Given the description of an element on the screen output the (x, y) to click on. 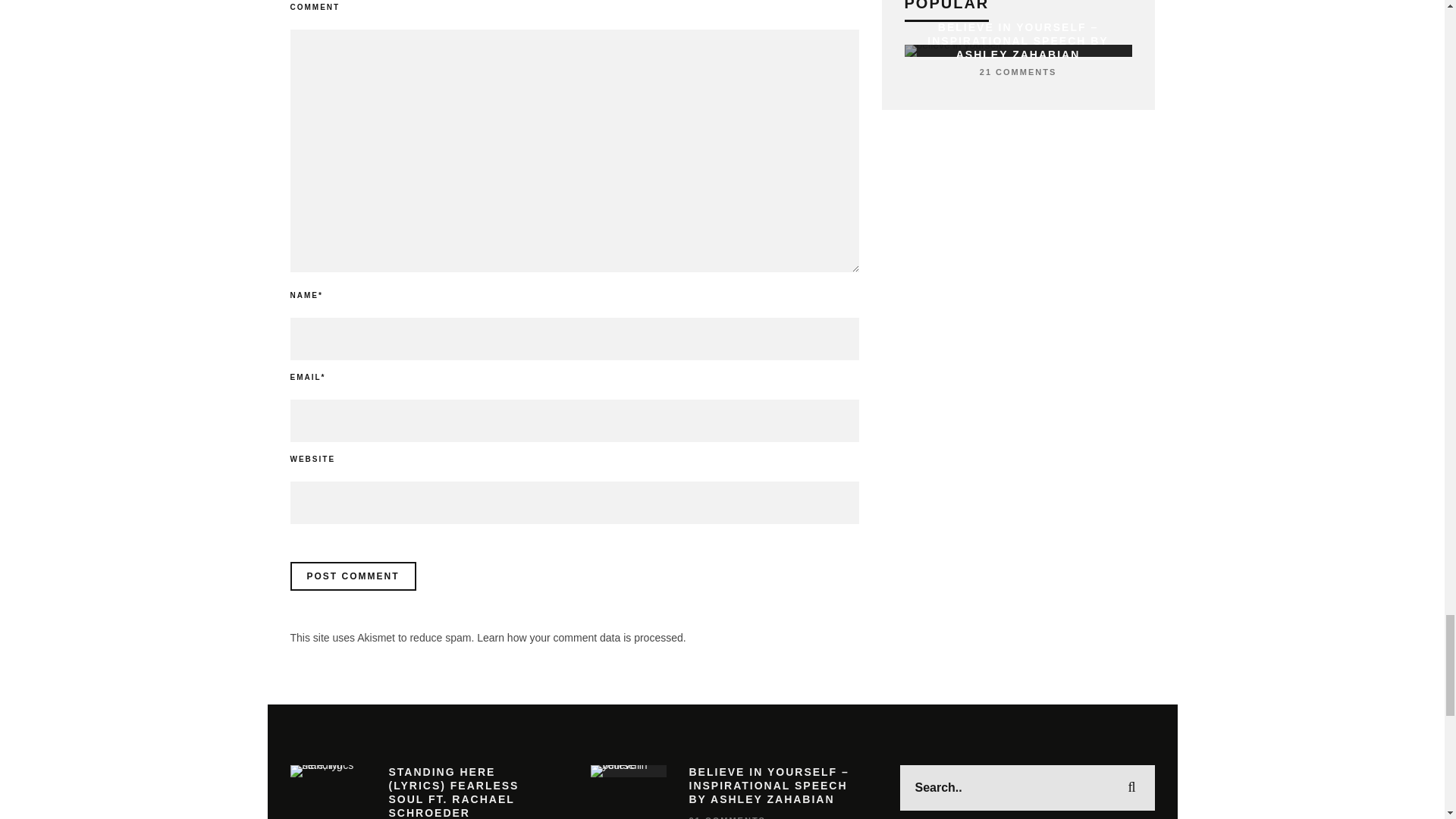
Post Comment (351, 575)
